Given the description of an element on the screen output the (x, y) to click on. 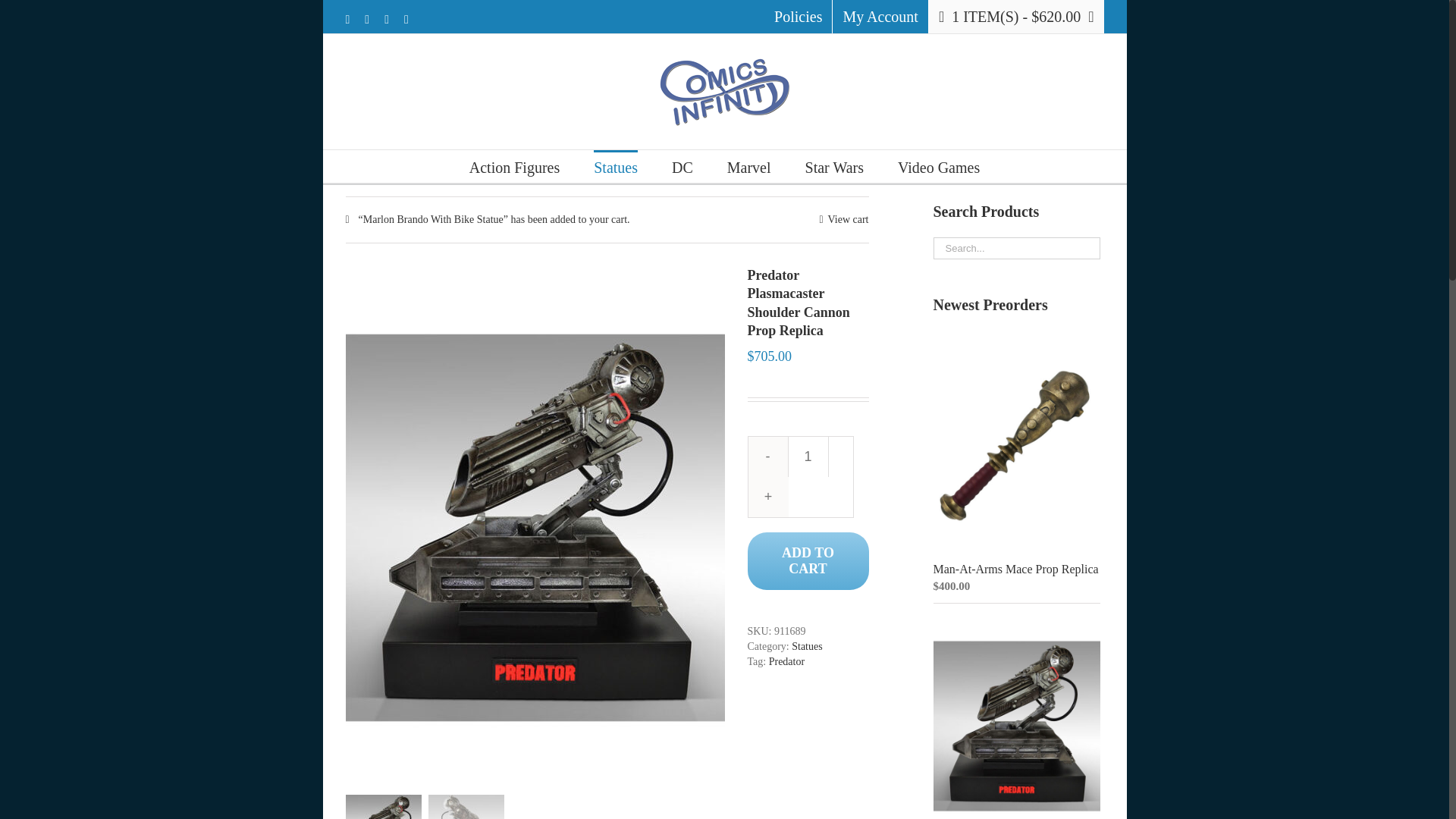
Action Figures (513, 165)
Star Wars (834, 165)
Statues (807, 645)
Video Games (938, 165)
1 (808, 456)
Predator (786, 661)
My Account (879, 16)
View cart (842, 219)
ADD TO CART (808, 560)
predator1 (384, 806)
Policies (797, 16)
Statues (615, 165)
- (767, 456)
Log In (842, 205)
Marvel (748, 165)
